Given the description of an element on the screen output the (x, y) to click on. 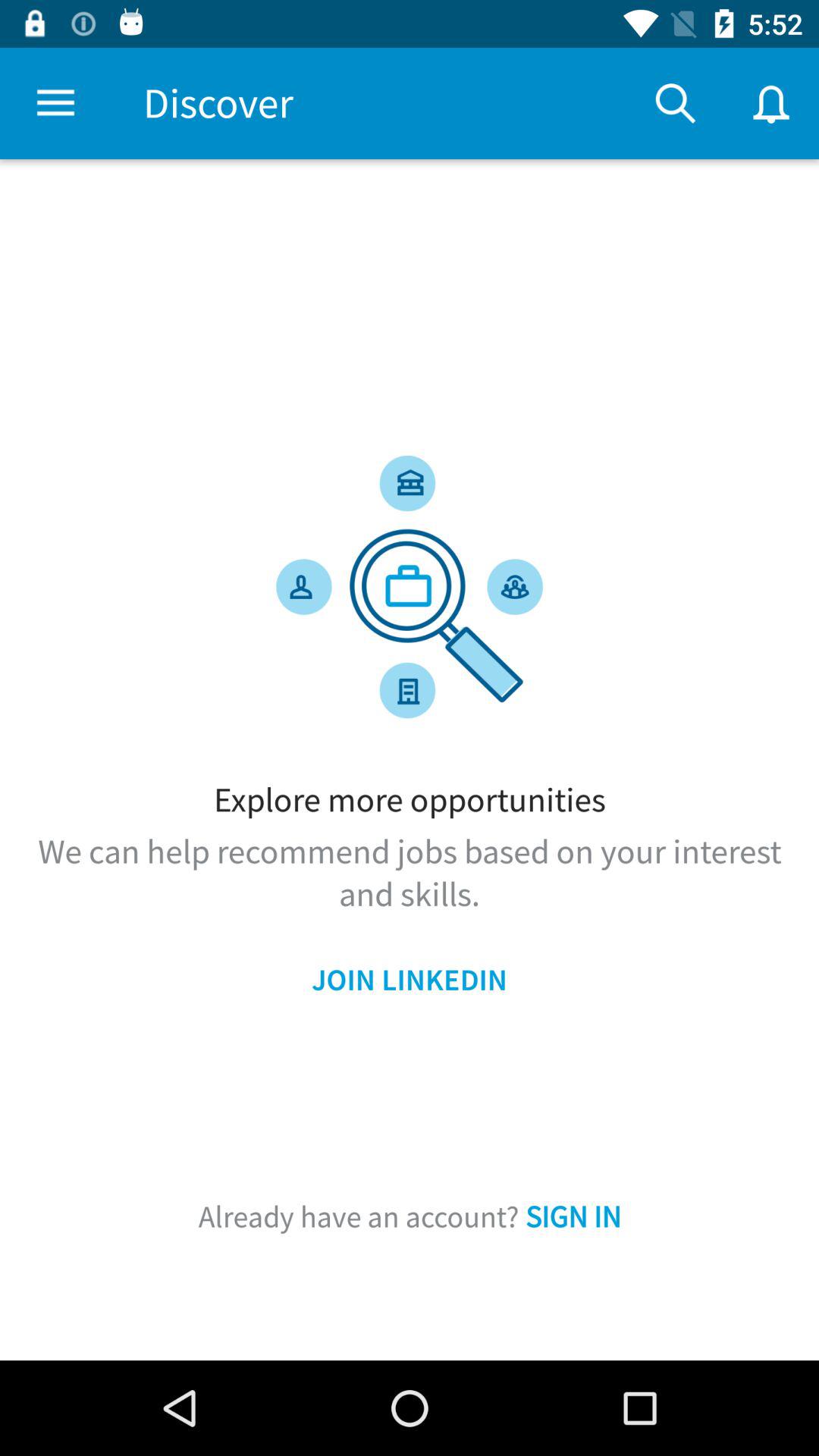
turn off icon to the left of the discover item (55, 103)
